Given the description of an element on the screen output the (x, y) to click on. 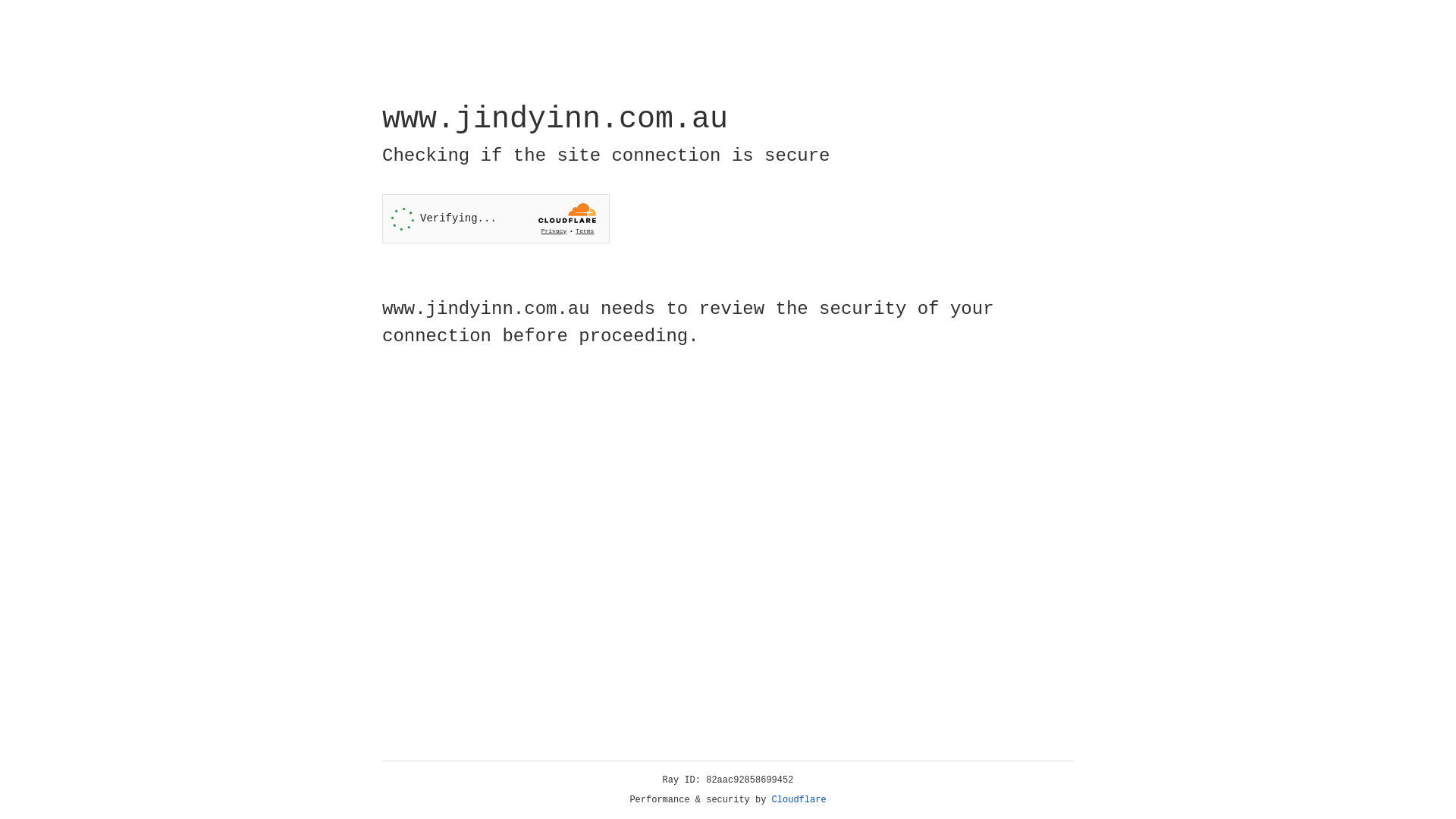
Cloudflare Element type: text (798, 799)
Widget containing a Cloudflare security challenge Element type: hover (495, 218)
